Given the description of an element on the screen output the (x, y) to click on. 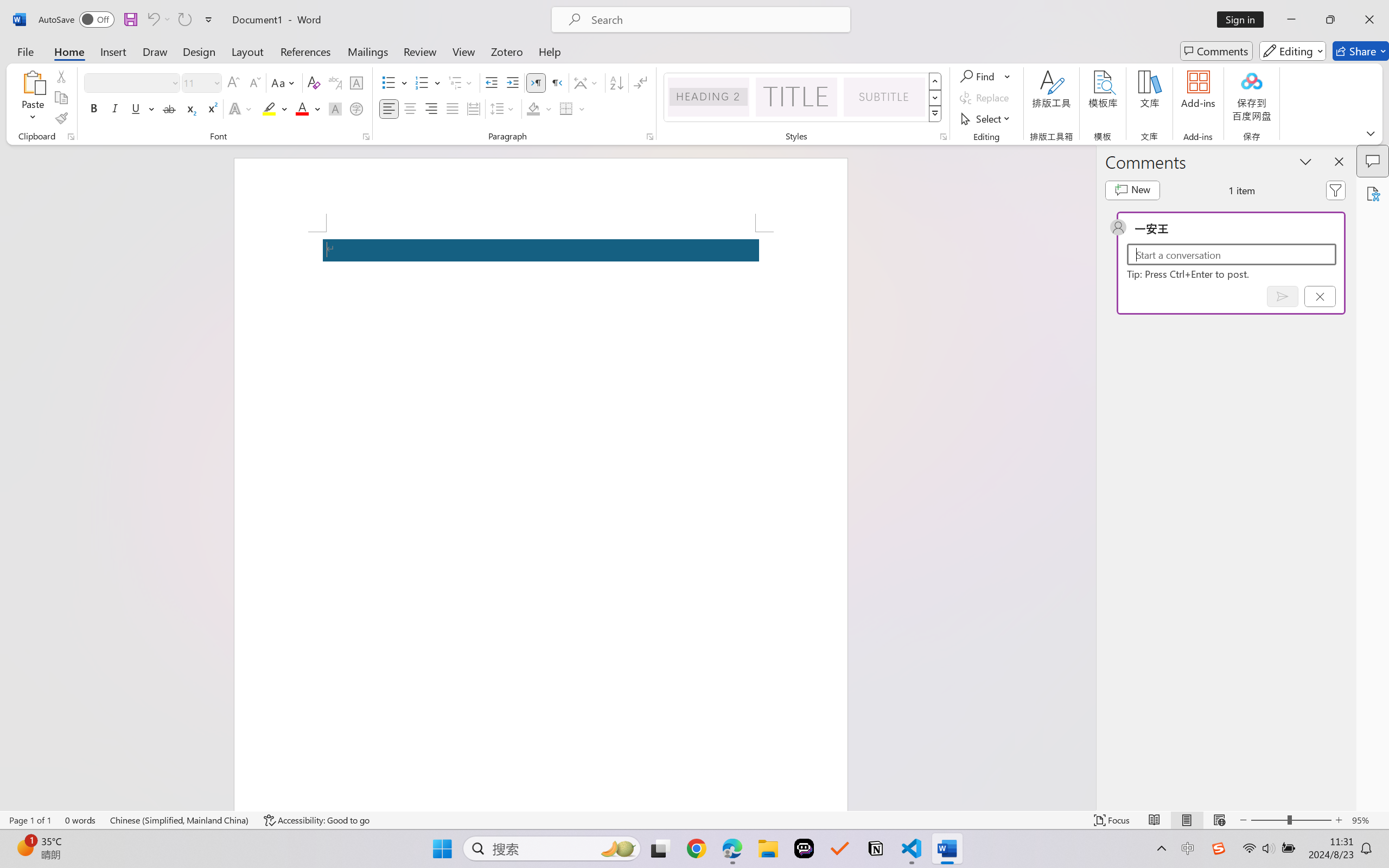
Right-to-Left (556, 82)
Accessibility Assistant (1373, 193)
Post comment (Ctrl + Enter) (1282, 296)
